Given the description of an element on the screen output the (x, y) to click on. 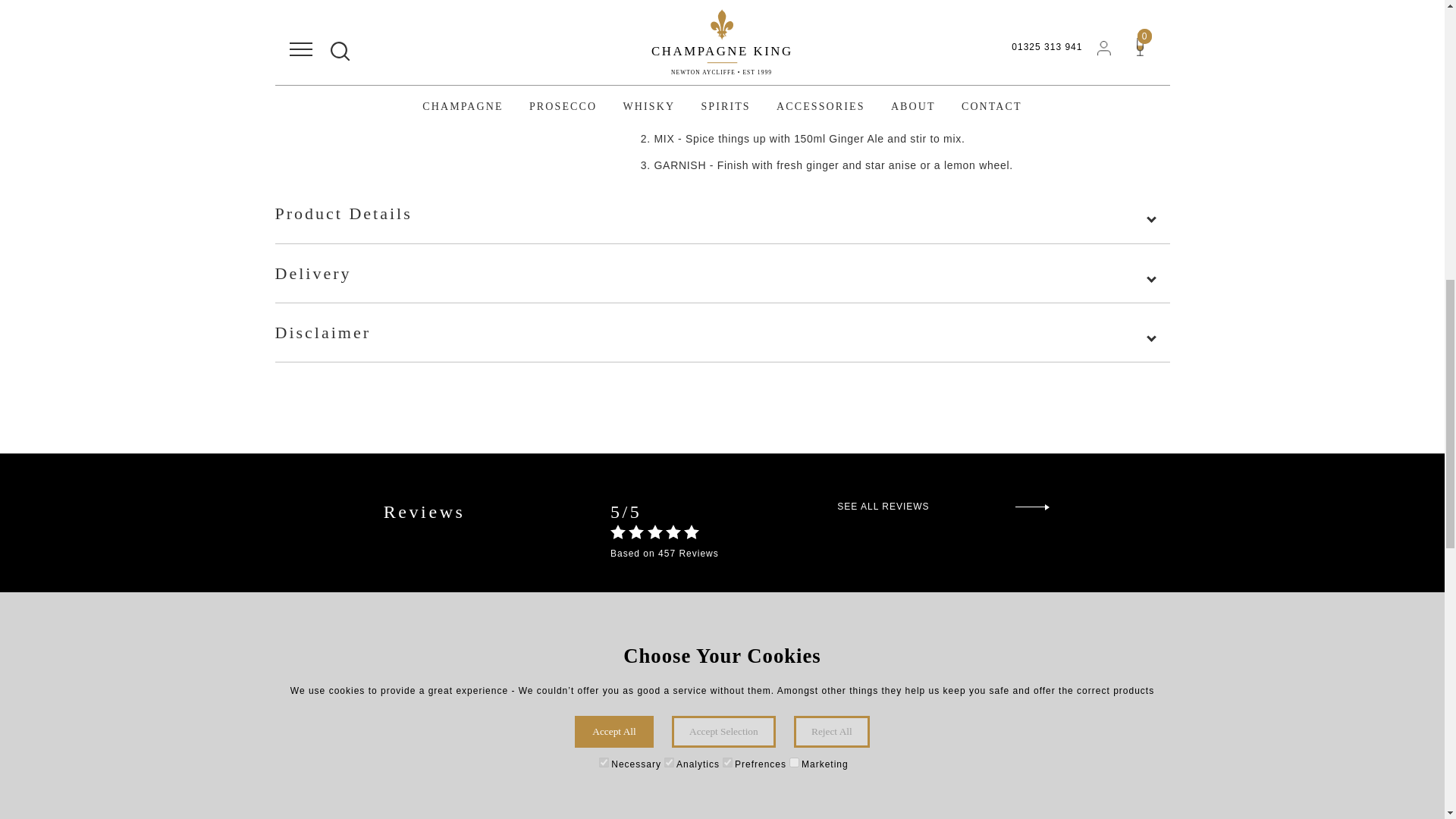
View Chivas Regal 18 Years Blended Scotch Whisky 70cl (600, 793)
View The Famous Grouse Blended Scotch Whisky 70cl (1036, 793)
